Given the description of an element on the screen output the (x, y) to click on. 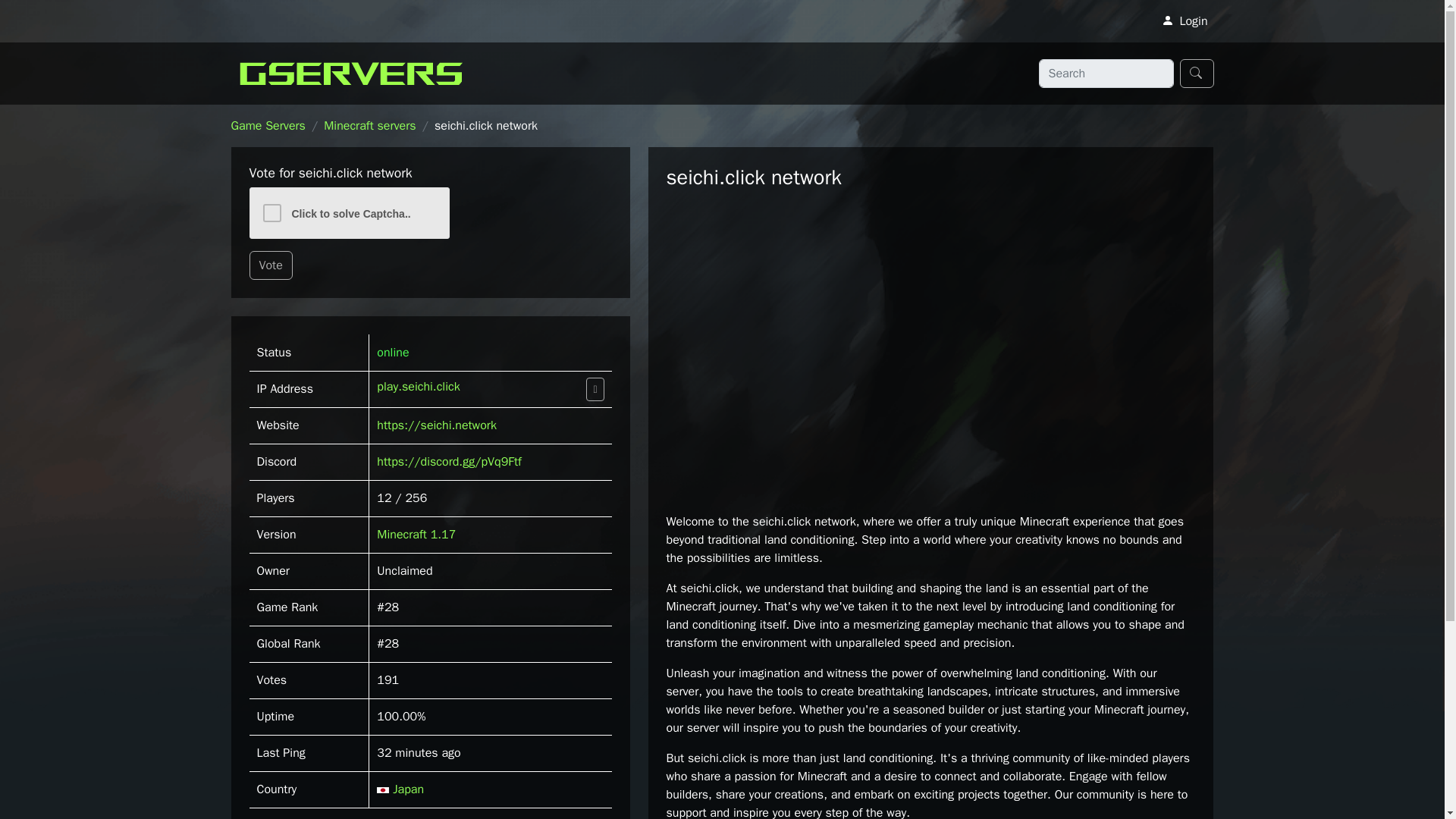
Japan (400, 789)
Game Servers (267, 125)
Search (1196, 72)
Minecraft servers (368, 125)
Vote (270, 265)
Minecraft 1.17 (416, 534)
Login (1185, 20)
